Given the description of an element on the screen output the (x, y) to click on. 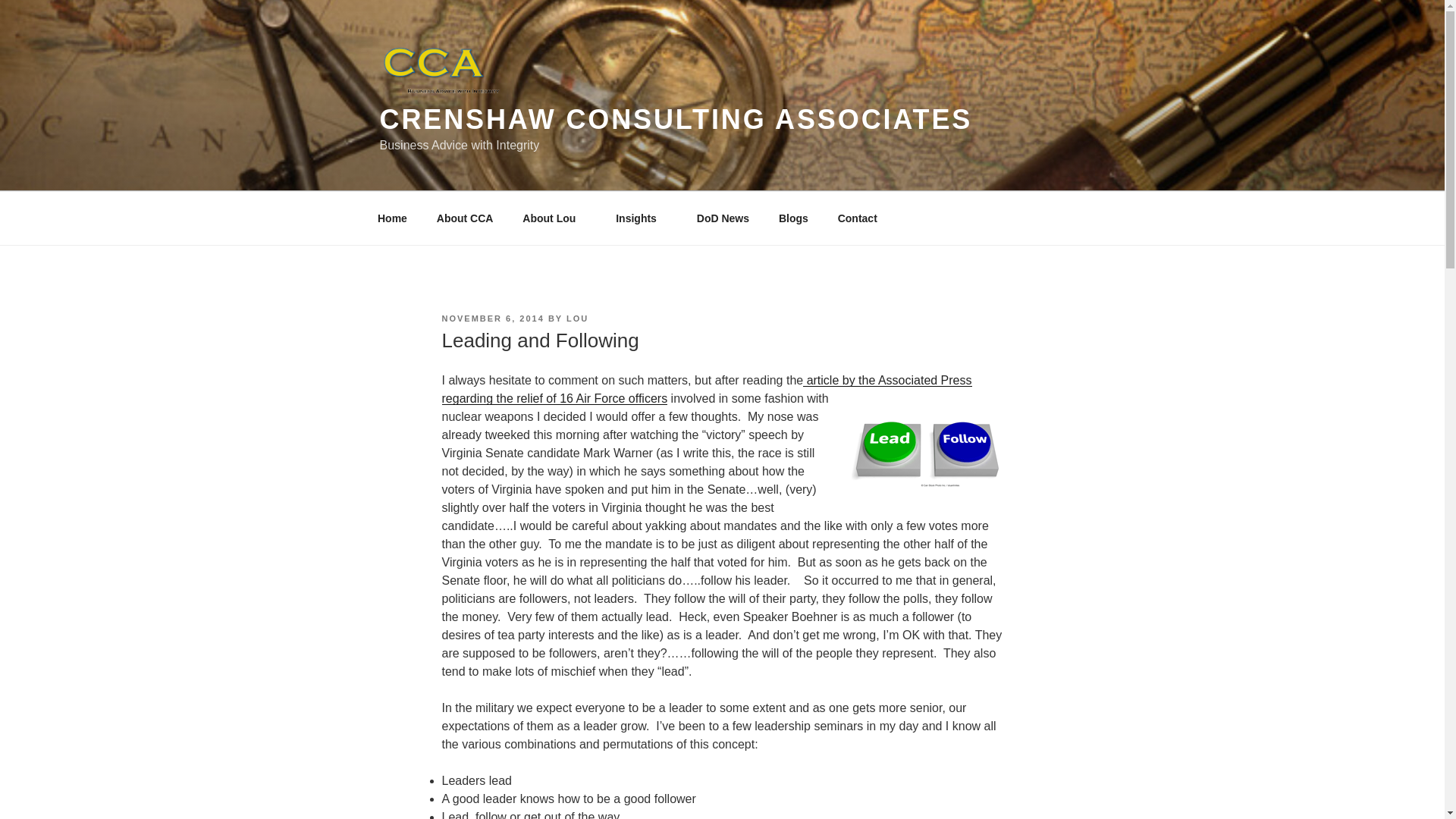
Home (392, 218)
USAF Nuke Discipline (706, 388)
About CCA (464, 218)
About Lou (554, 218)
Blogs (793, 218)
DoD News (721, 218)
Contact (856, 218)
NOVEMBER 6, 2014 (492, 317)
Insights (641, 218)
LOU (577, 317)
CRENSHAW CONSULTING ASSOCIATES (675, 119)
